Given the description of an element on the screen output the (x, y) to click on. 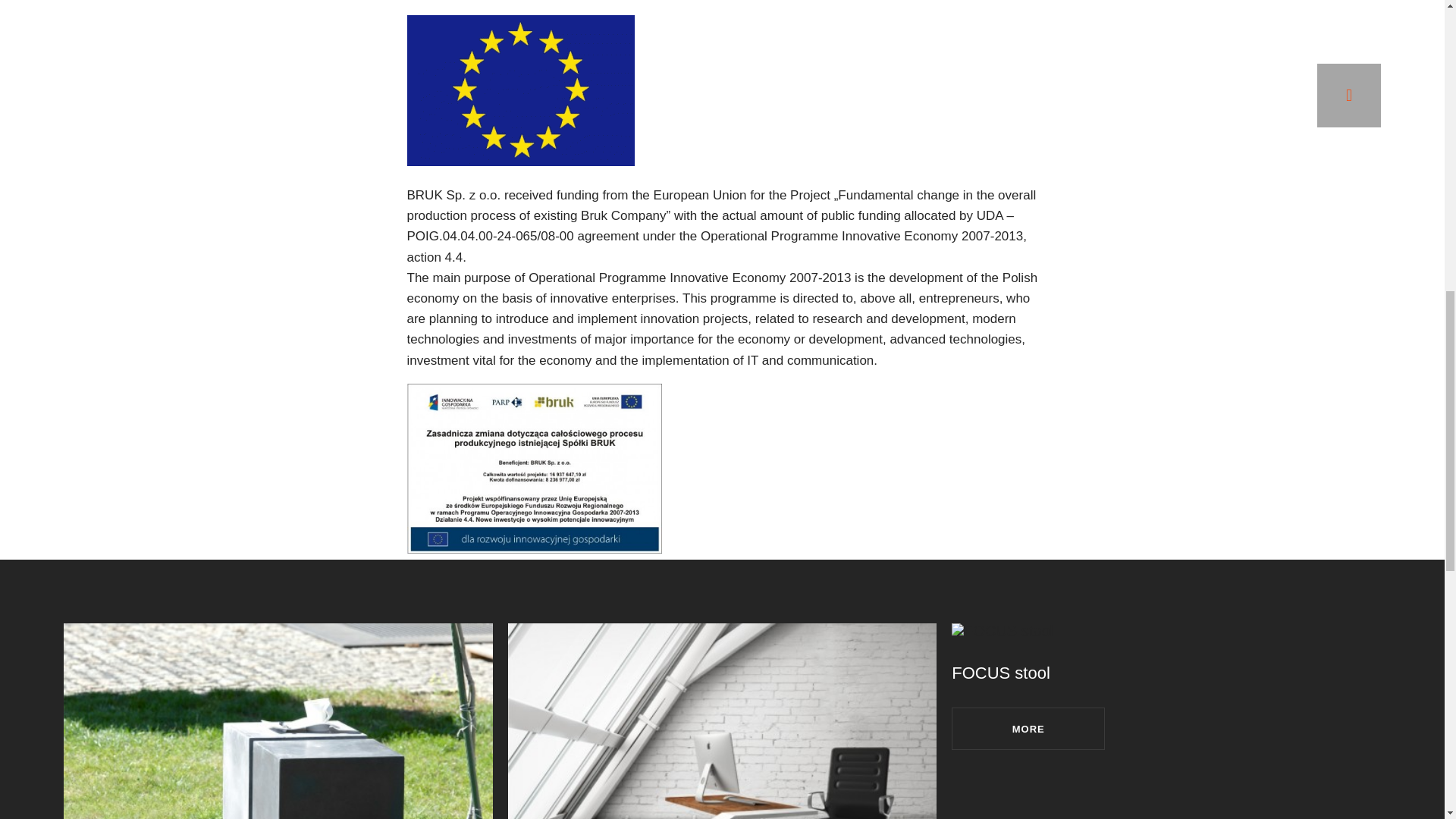
FOCUS stool (1000, 672)
MORE (1028, 728)
